Given the description of an element on the screen output the (x, y) to click on. 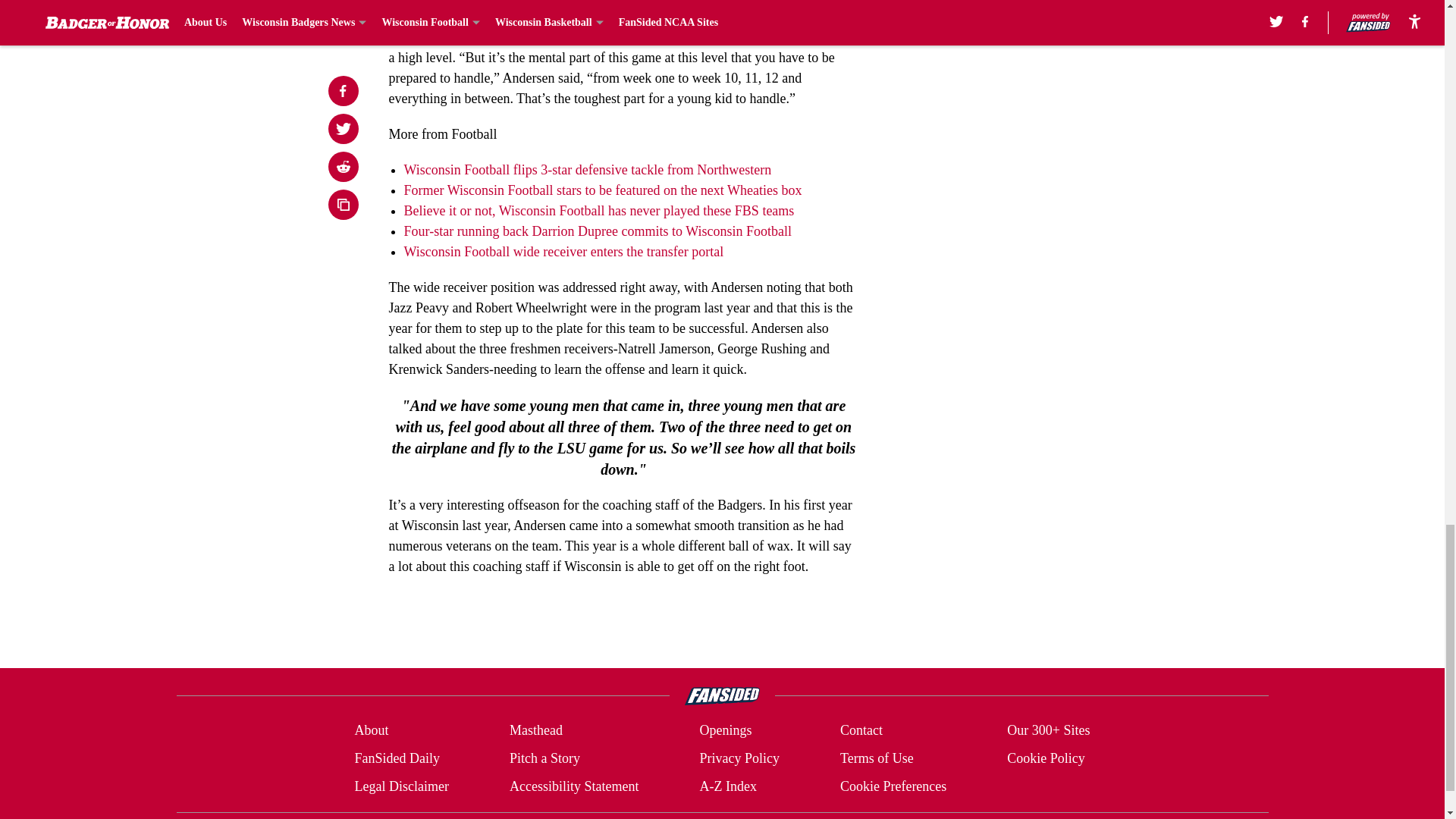
Legal Disclaimer (400, 786)
Pitch a Story (544, 758)
Wisconsin Football wide receiver enters the transfer portal (563, 251)
Openings (724, 730)
FanSided Daily (396, 758)
Privacy Policy (738, 758)
Terms of Use (877, 758)
Masthead (535, 730)
Cookie Policy (1045, 758)
Contact (861, 730)
About (370, 730)
